Given the description of an element on the screen output the (x, y) to click on. 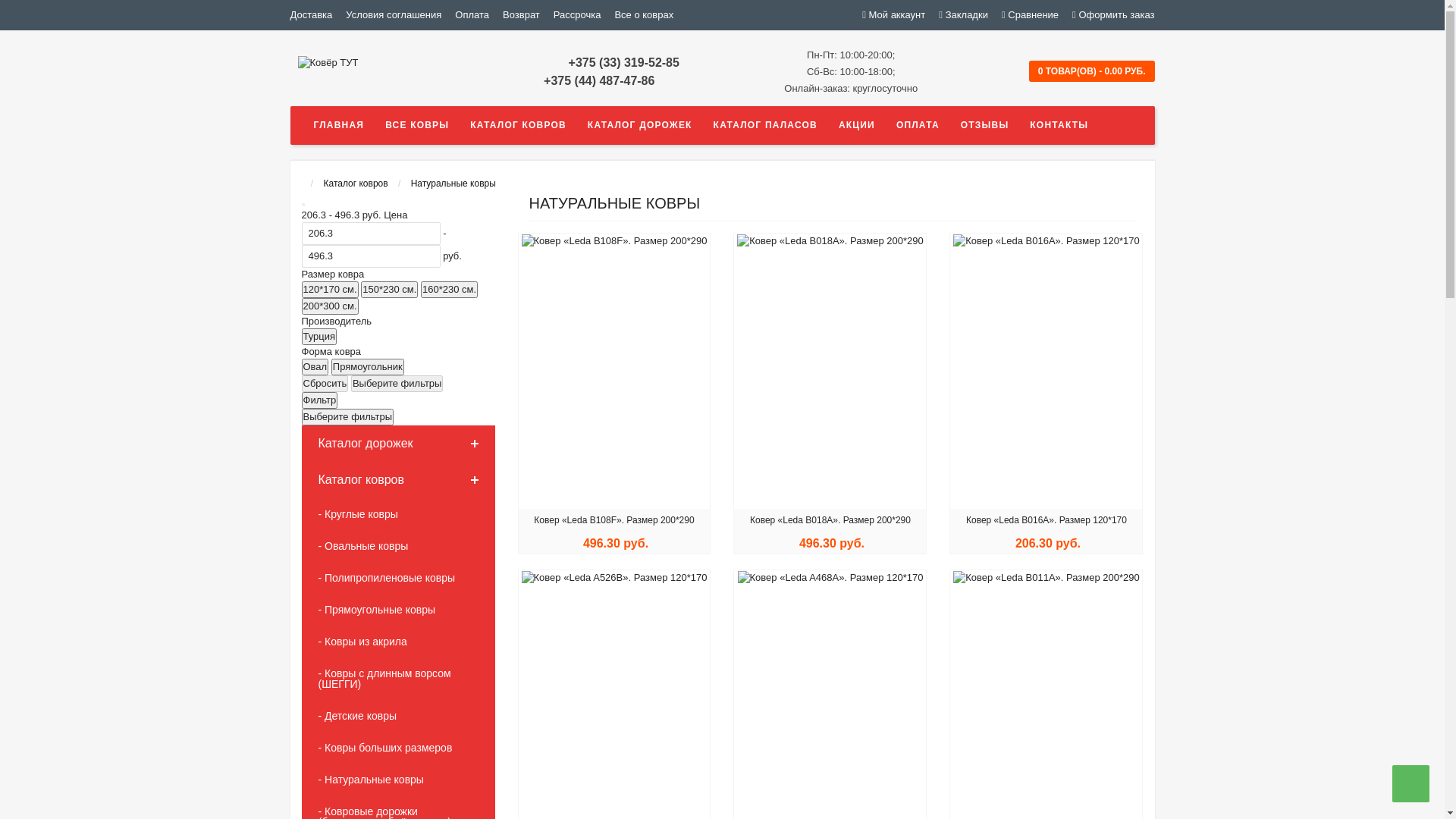
+375 (44) 487-47-86 Element type: text (598, 80)
+375 (33) 319-52-85 Element type: text (623, 62)
